Given the description of an element on the screen output the (x, y) to click on. 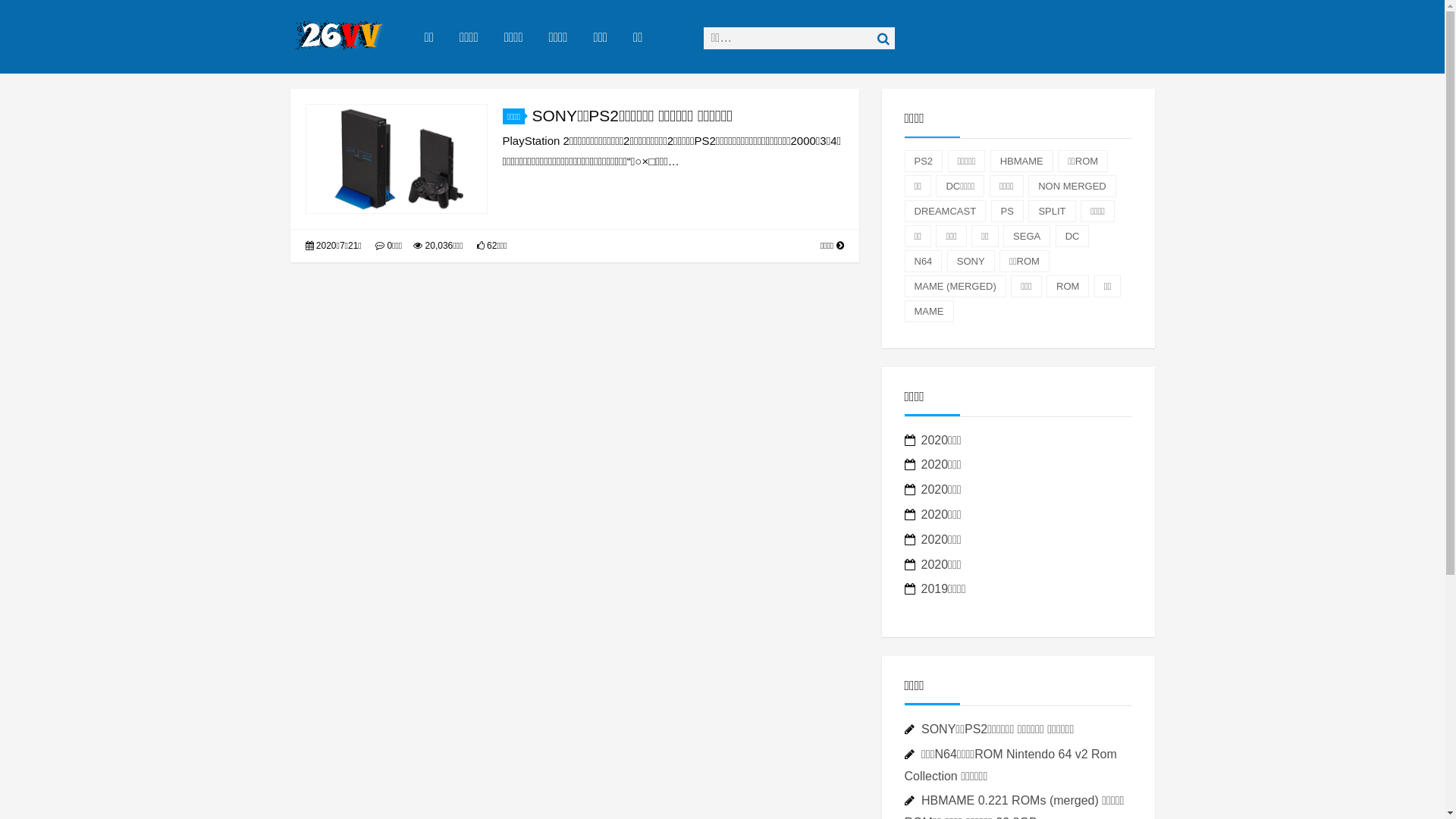
PS Element type: text (1007, 211)
SPLIT Element type: text (1051, 211)
SONY Element type: text (970, 261)
DREAMCAST Element type: text (944, 211)
HBMAME Element type: text (1021, 161)
NON MERGED Element type: text (1072, 186)
PS2 Element type: text (922, 161)
SEGA Element type: text (1026, 236)
ROM Element type: text (1067, 286)
N64 Element type: text (922, 261)
DC Element type: text (1072, 236)
MAME Element type: text (928, 311)
MAME (MERGED) Element type: text (954, 286)
